Given the description of an element on the screen output the (x, y) to click on. 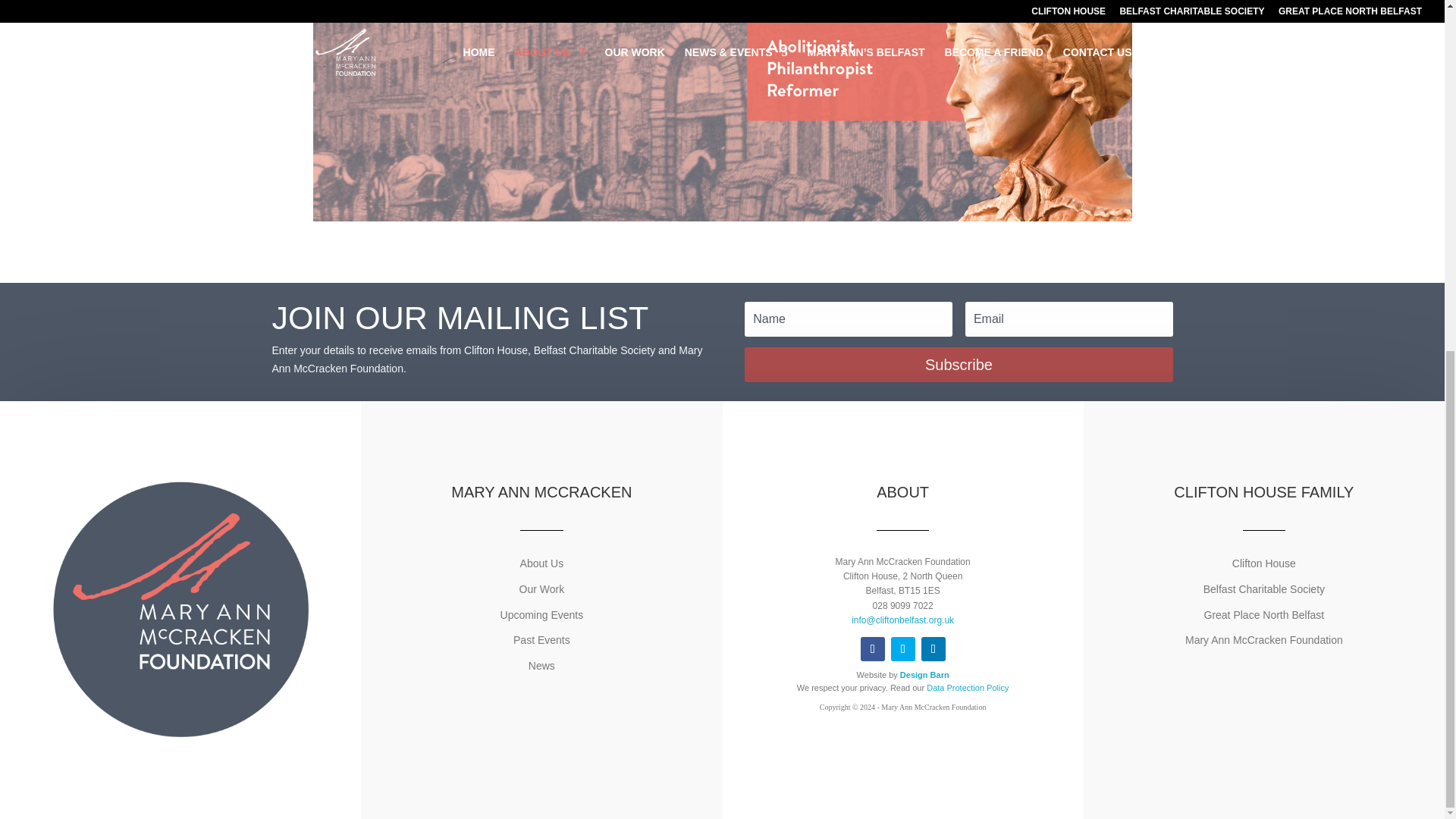
Follow on Twitter (903, 648)
Data Protection Policy (967, 687)
Design Barn (924, 674)
Subscribe (958, 364)
Follow on LinkedIn (932, 648)
Follow on Facebook (872, 648)
